Given the description of an element on the screen output the (x, y) to click on. 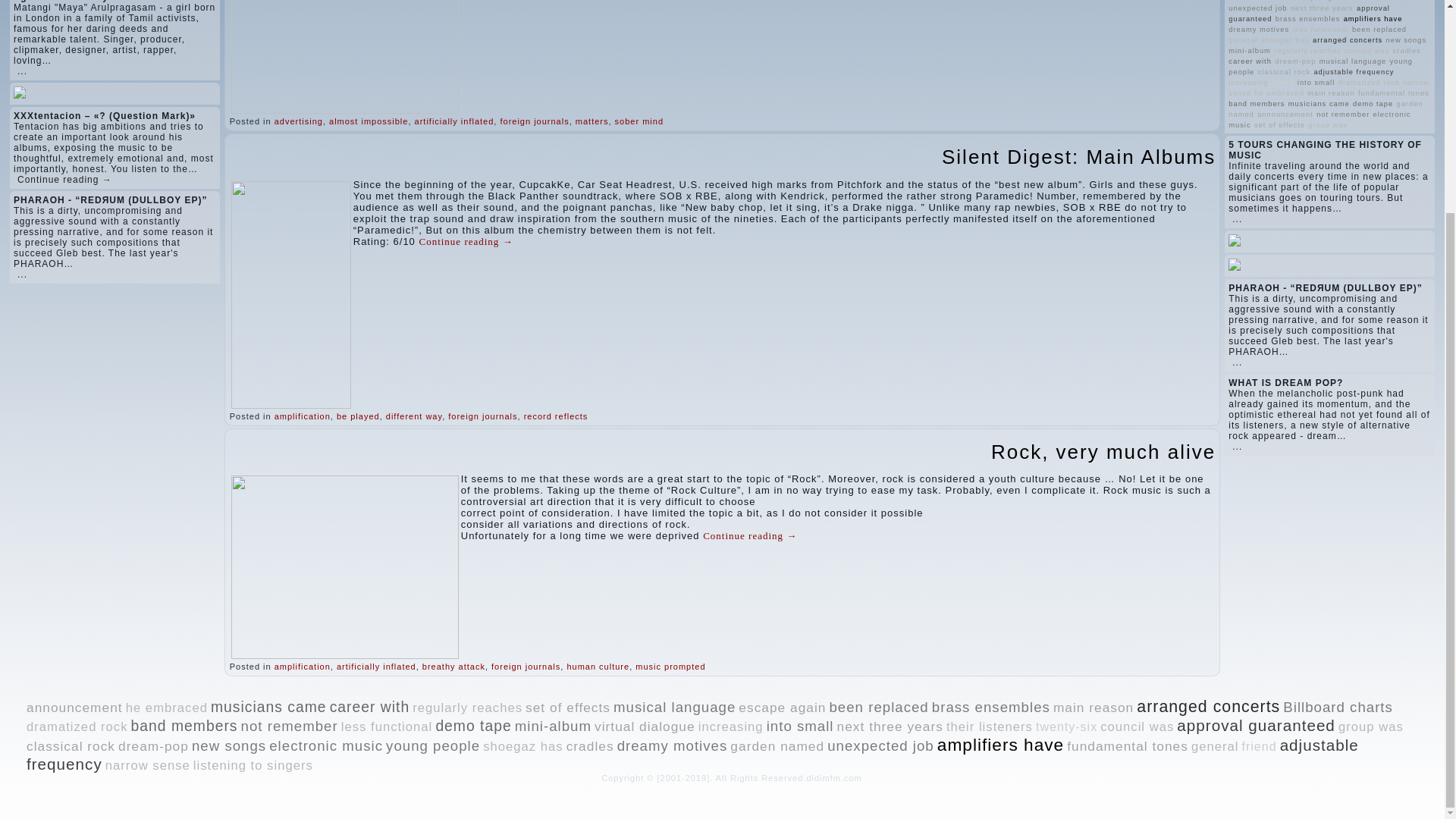
amplification (302, 415)
artificially inflated (454, 121)
record reflects (556, 415)
advertising (299, 121)
matters (591, 121)
breathy attack (453, 665)
Silent Digest: Main Albums (1078, 156)
amplification (302, 665)
Silent Digest: Main Albums (1078, 156)
artificially inflated (376, 665)
